Given the description of an element on the screen output the (x, y) to click on. 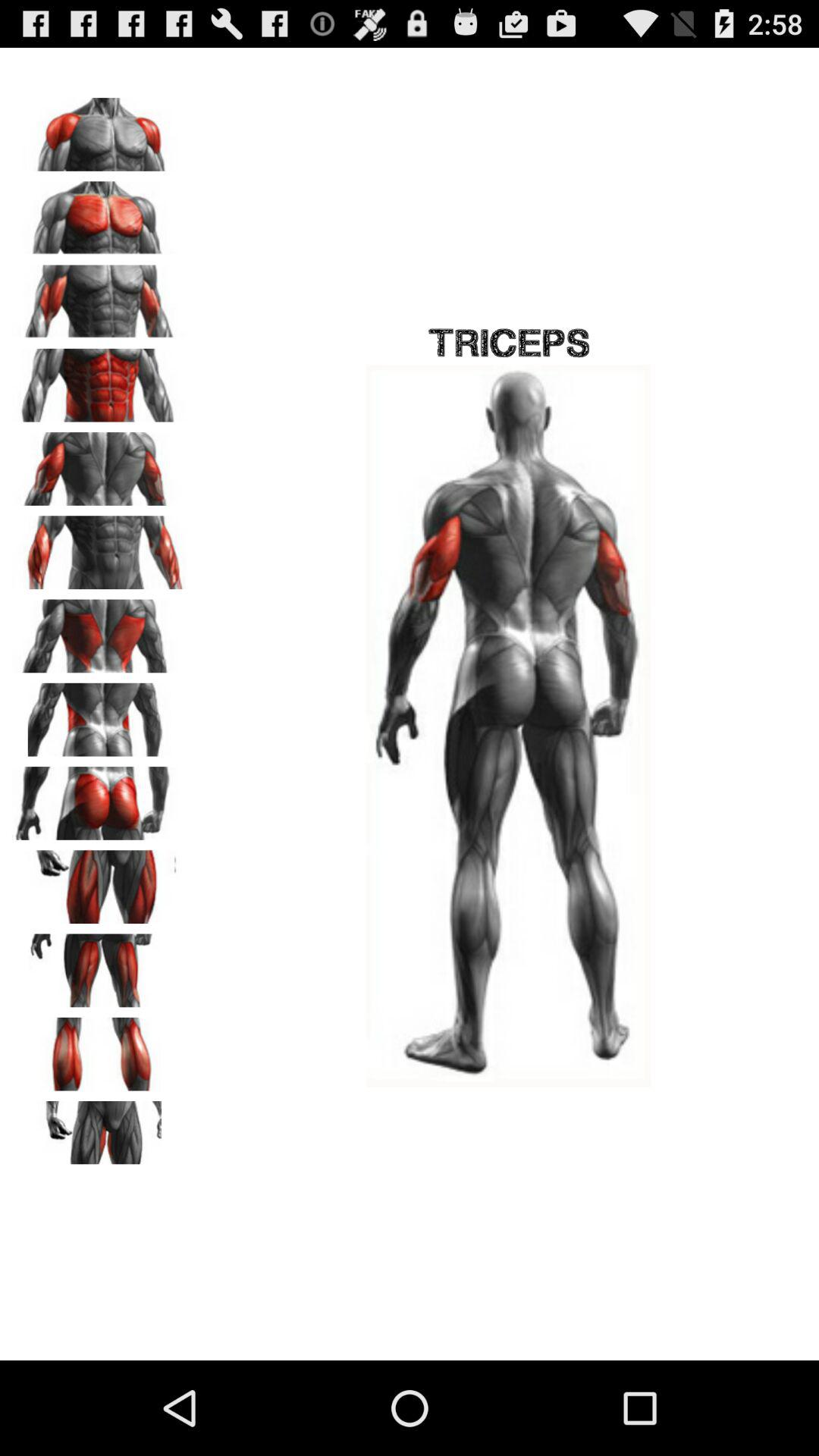
switch to this view (99, 547)
